Given the description of an element on the screen output the (x, y) to click on. 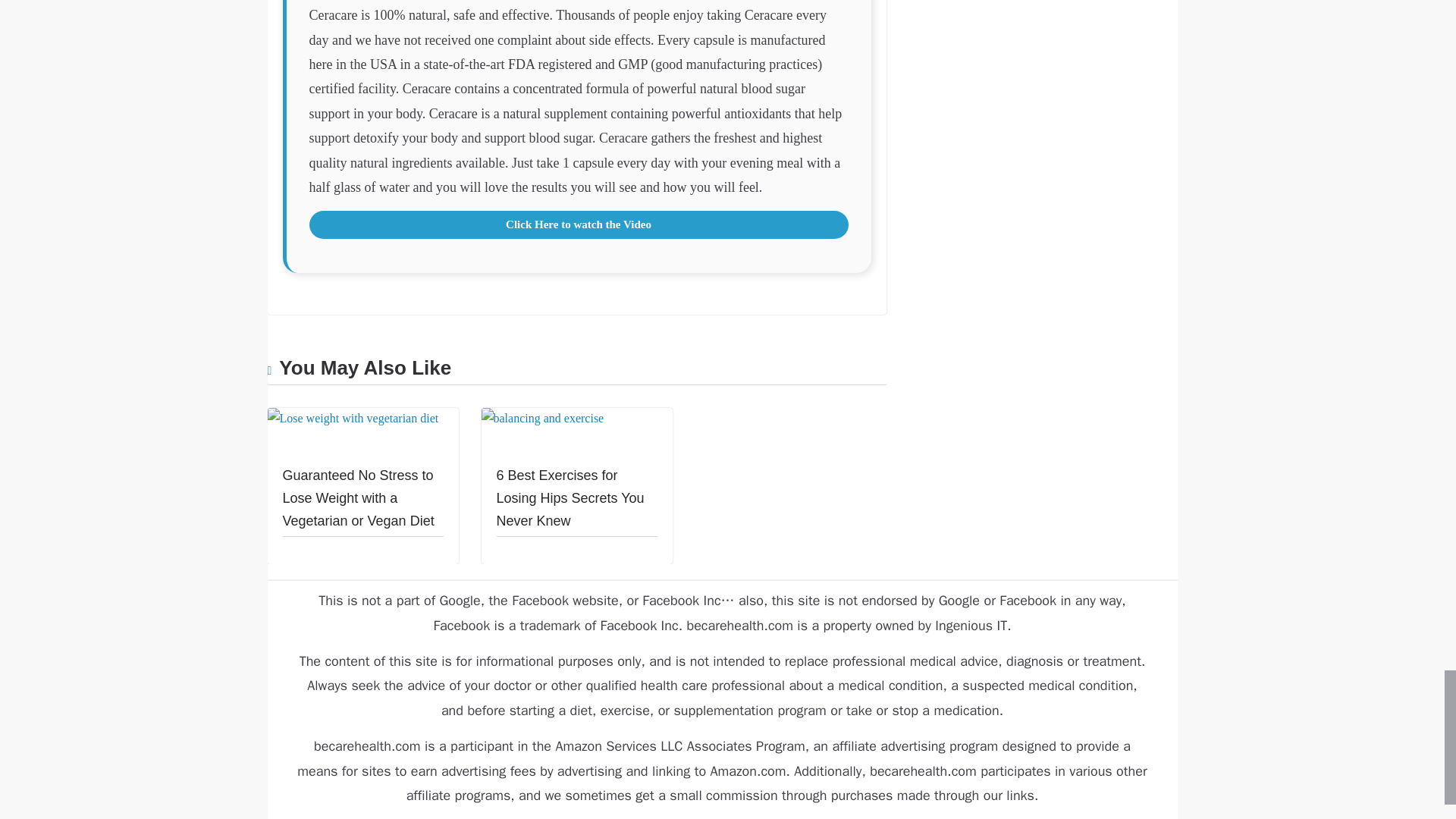
6 Best Exercises for Losing Hips Secrets You Never Knew (542, 418)
6 Best Exercises for Losing Hips Secrets You Never Knew (569, 497)
